Given the description of an element on the screen output the (x, y) to click on. 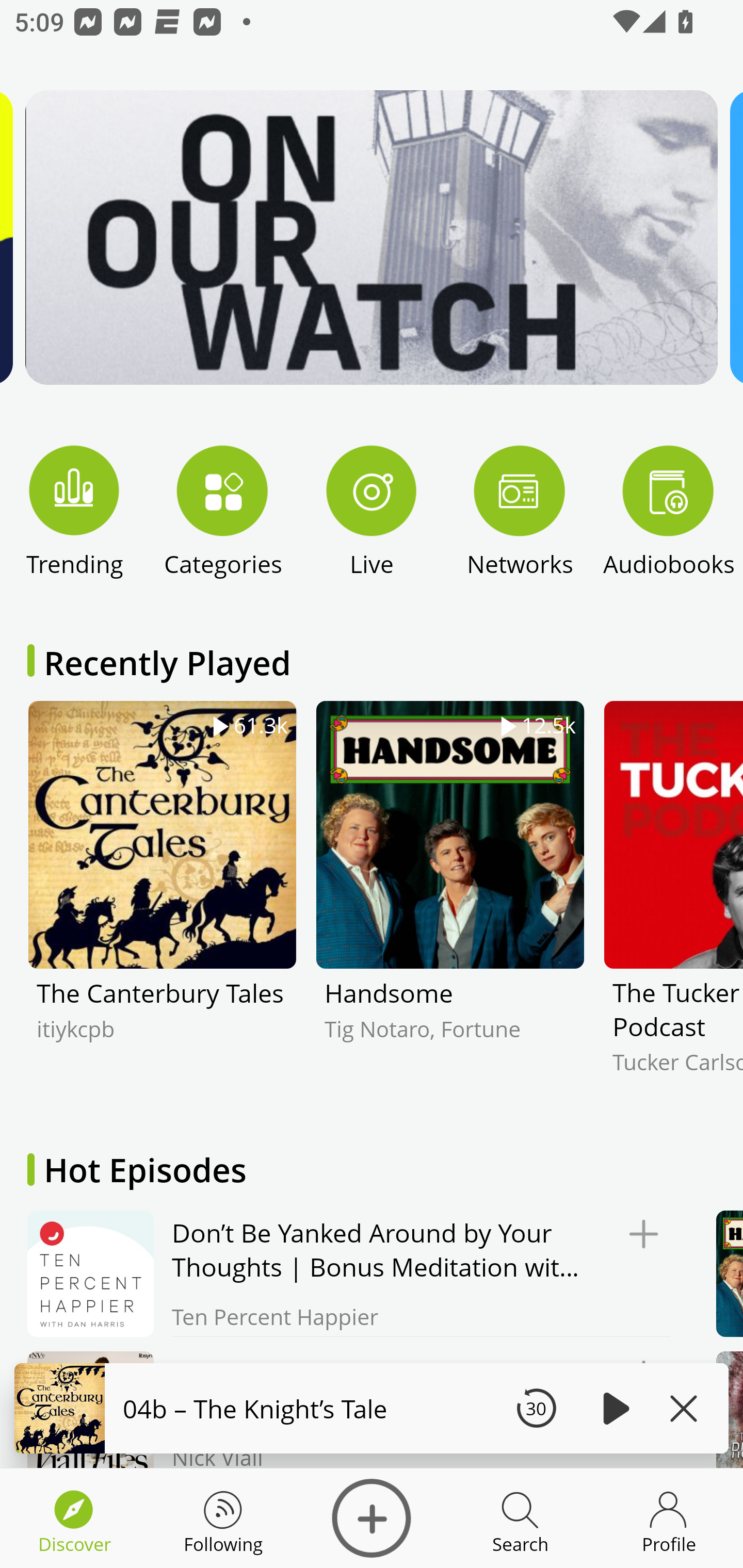
61.3k The Canterbury Tales itiykcpb (162, 902)
The Tucker Carlson Podcast Tucker Carlson (673, 902)
Play (613, 1407)
30 Seek Backward (536, 1407)
Discover Following (222, 1518)
Discover (371, 1518)
Discover Search (519, 1518)
Discover Profile (668, 1518)
